Given the description of an element on the screen output the (x, y) to click on. 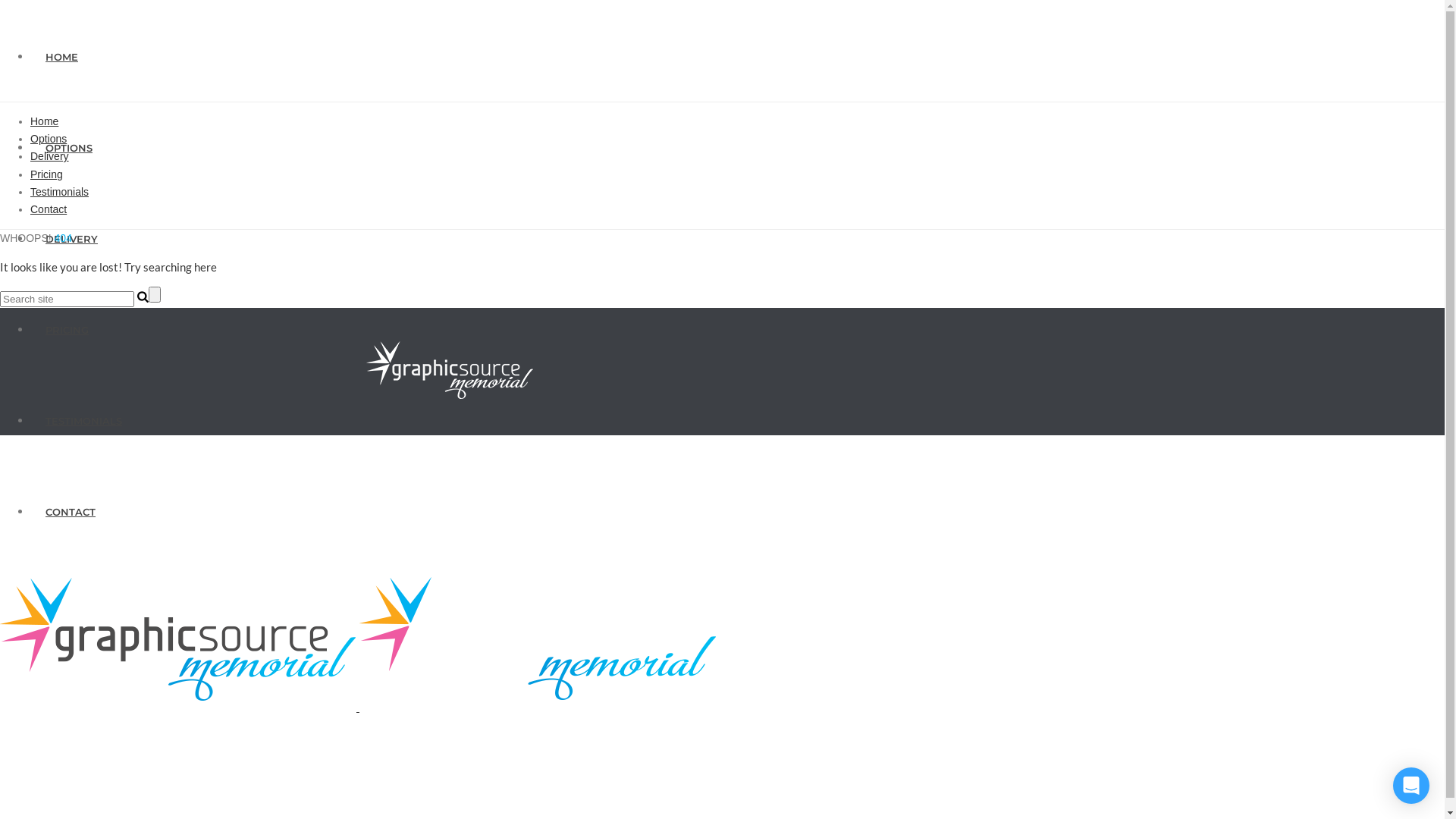
Home Element type: text (44, 121)
TESTIMONIALS Element type: text (83, 420)
Pricing Element type: text (46, 174)
DELIVERY Element type: text (71, 238)
CONTACT Element type: text (70, 511)
Delivery Element type: text (49, 156)
Graphic Source Memorial Element type: hover (357, 707)
OPTIONS Element type: text (68, 147)
Testimonials Element type: text (59, 191)
PRICING Element type: text (66, 329)
HOME Element type: text (61, 56)
Options Element type: text (48, 138)
Contact Element type: text (48, 209)
